Given the description of an element on the screen output the (x, y) to click on. 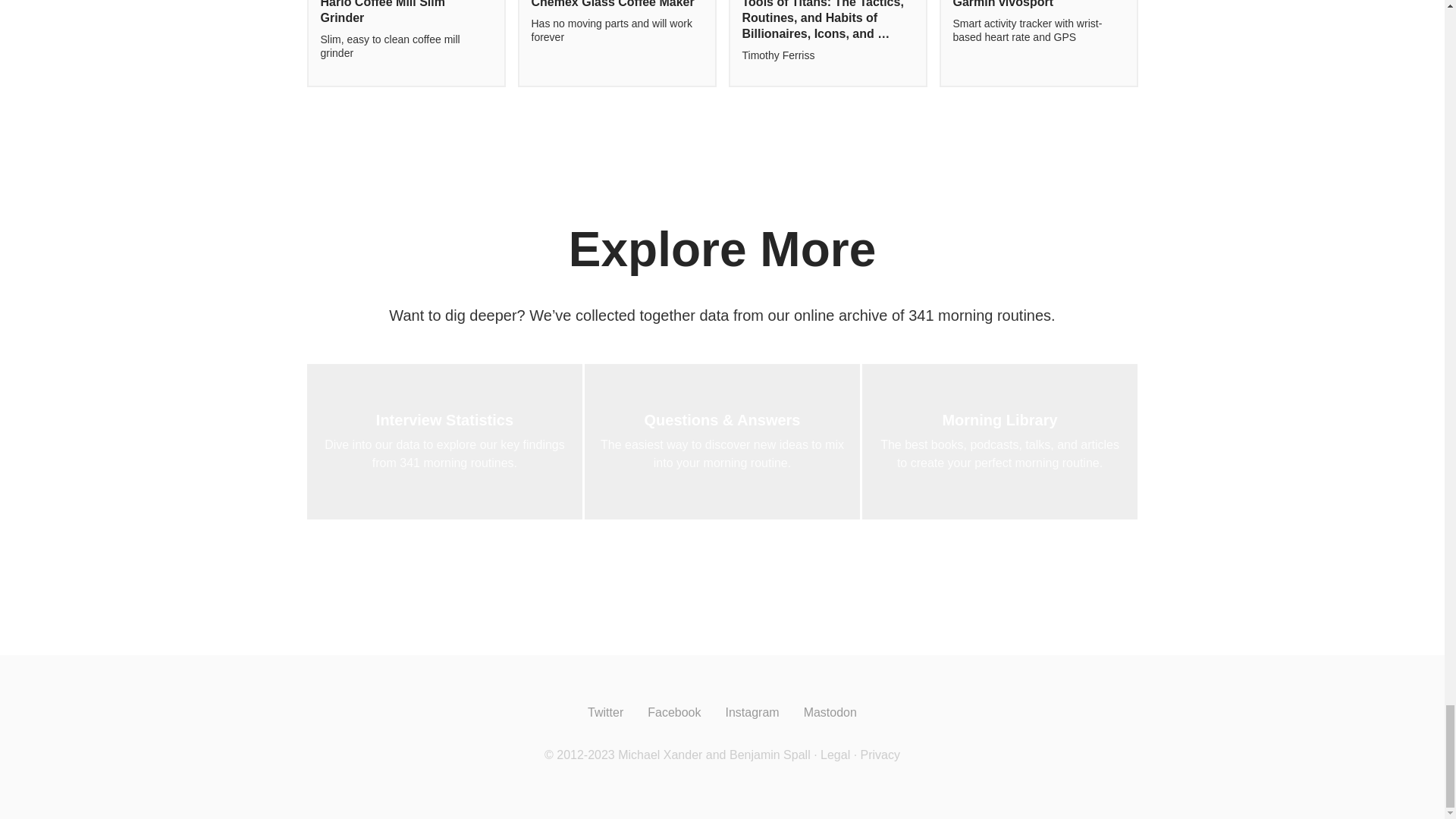
Follow us on Instagram (751, 712)
Follow us on Mastodon (830, 712)
Like us on Facebook (673, 712)
Follow us on Twitter (605, 712)
